Given the description of an element on the screen output the (x, y) to click on. 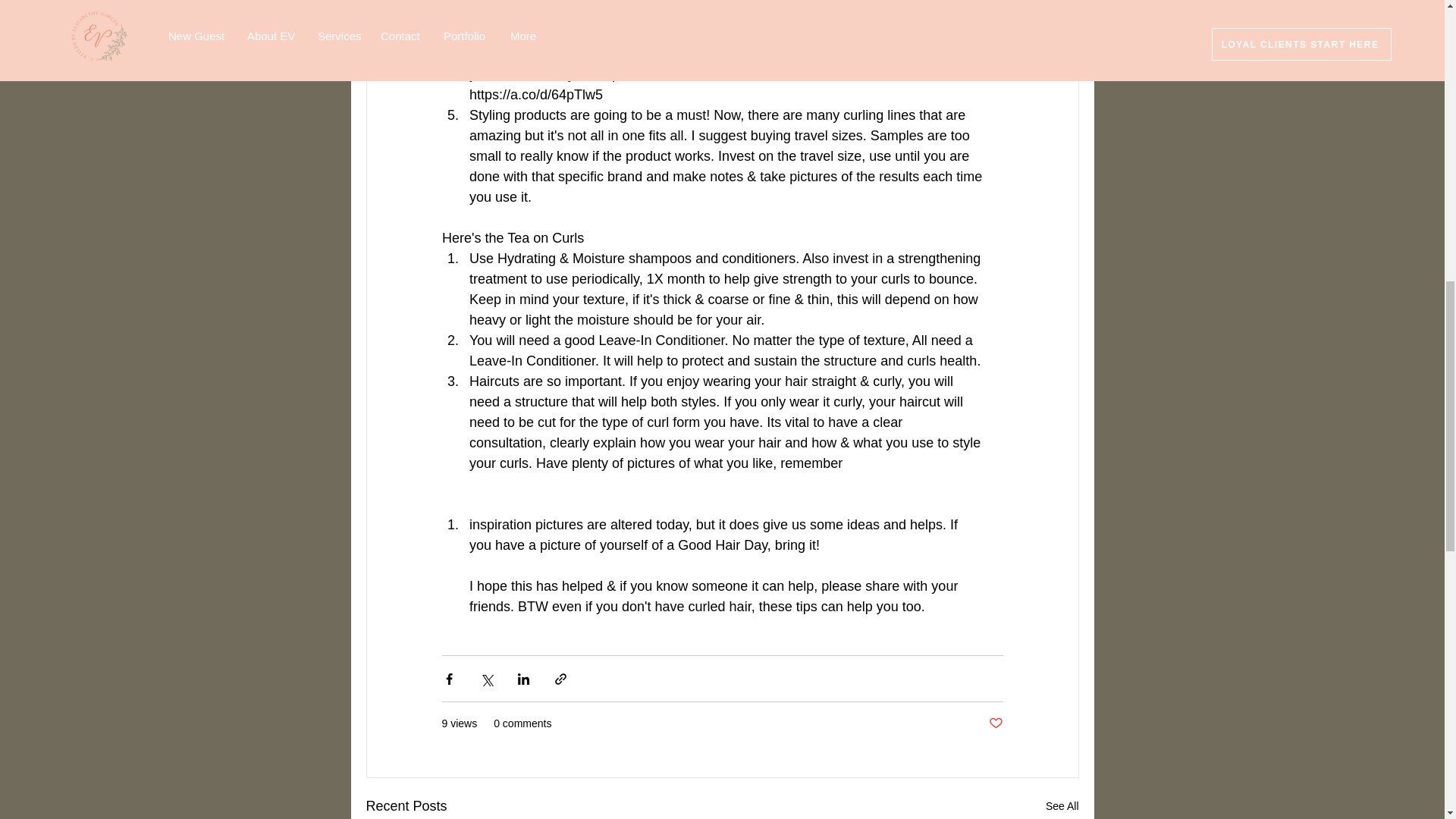
Use a towel hair wrap. (536, 12)
Sleep with a silk bonn (533, 53)
Post not marked as liked (995, 723)
See All (1061, 806)
